Given the description of an element on the screen output the (x, y) to click on. 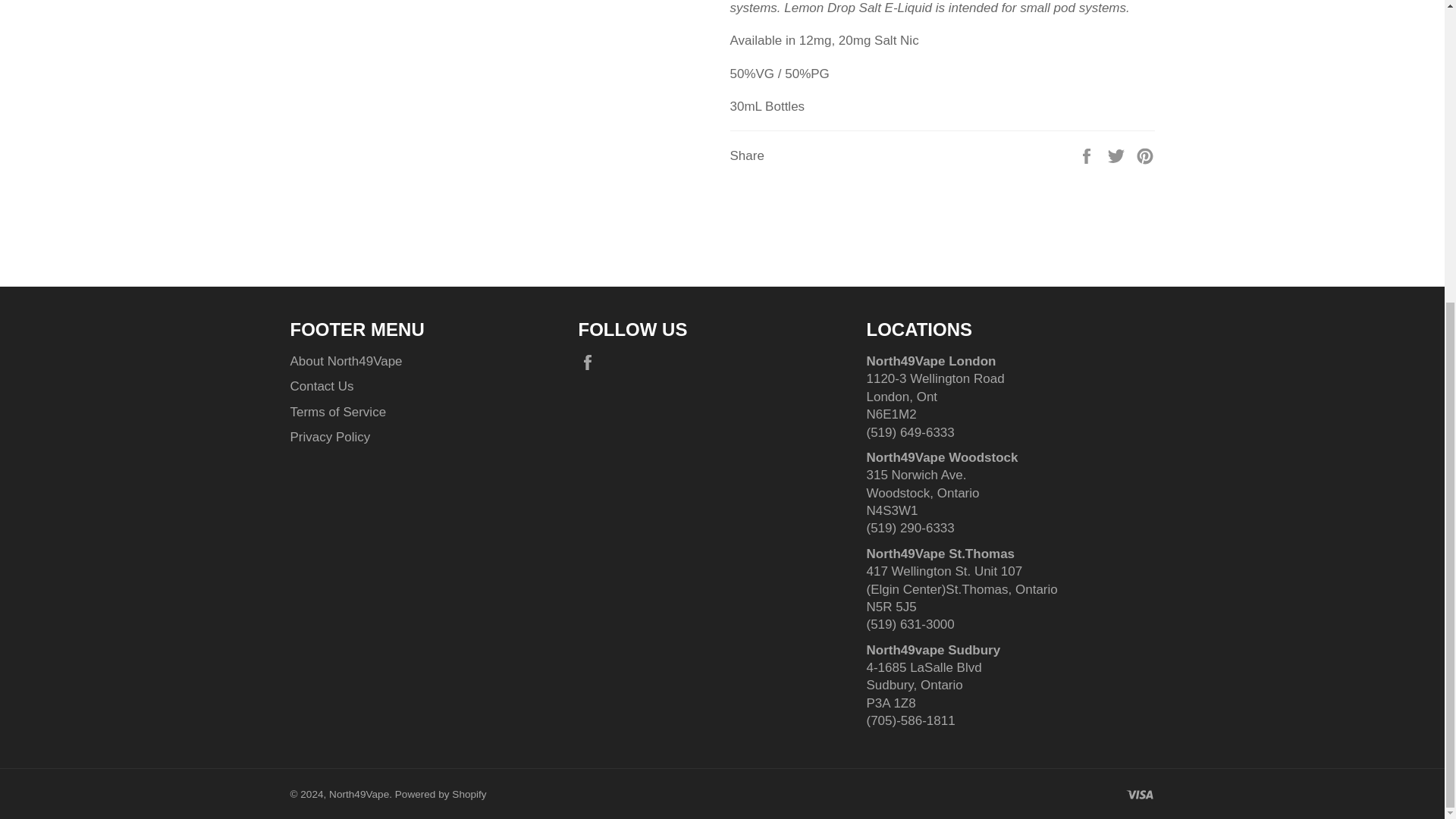
Privacy Policy (329, 436)
Pin on Pinterest (1144, 155)
Share on Facebook (1088, 155)
Terms of Service (337, 411)
Tweet on Twitter (1117, 155)
Share on Facebook (1088, 155)
Tweet on Twitter (1117, 155)
Contact Us (321, 386)
Pin on Pinterest (1144, 155)
About North49Vape (345, 360)
